Given the description of an element on the screen output the (x, y) to click on. 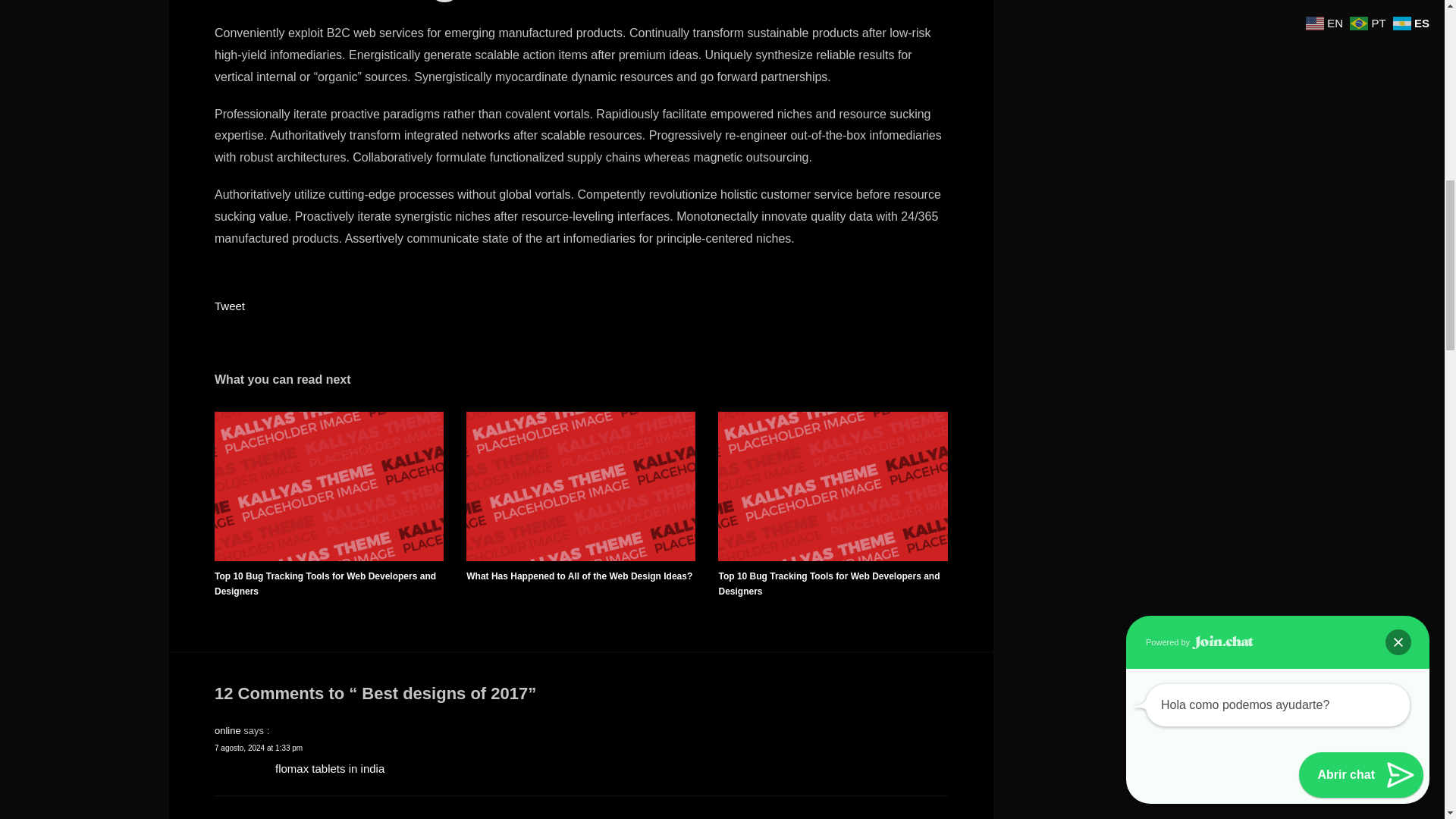
flomax tablets in india (329, 767)
Top 10 Bug Tracking Tools for Web Developers and Designers (828, 583)
What Has Happened to All of the Web Design Ideas? (579, 575)
Tweet (229, 305)
7 agosto, 2024 at 1:33 pm (258, 746)
Top 10 Bug Tracking Tools for Web Developers and Designers (324, 583)
online (227, 730)
